Given the description of an element on the screen output the (x, y) to click on. 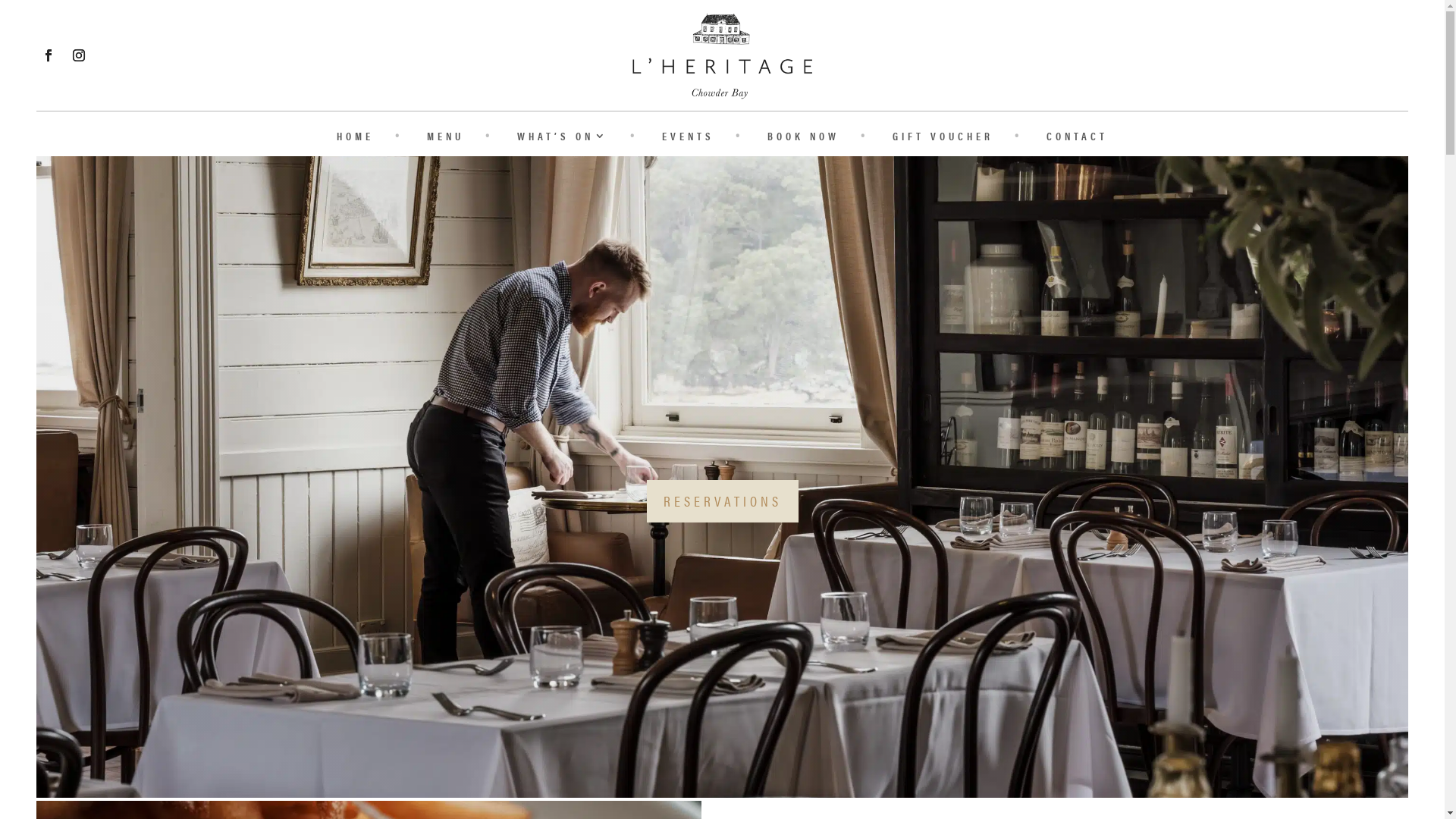
EVENTS Element type: text (688, 138)
HOME Element type: text (354, 138)
MENU Element type: text (445, 138)
Follow on Facebook Element type: hover (48, 55)
BOOK NOW Element type: text (803, 138)
Follow on Instagram Element type: hover (78, 55)
GIFT VOUCHER Element type: text (942, 138)
CONTACT Element type: text (1076, 138)
RESERVATIONS Element type: text (721, 501)
